Given the description of an element on the screen output the (x, y) to click on. 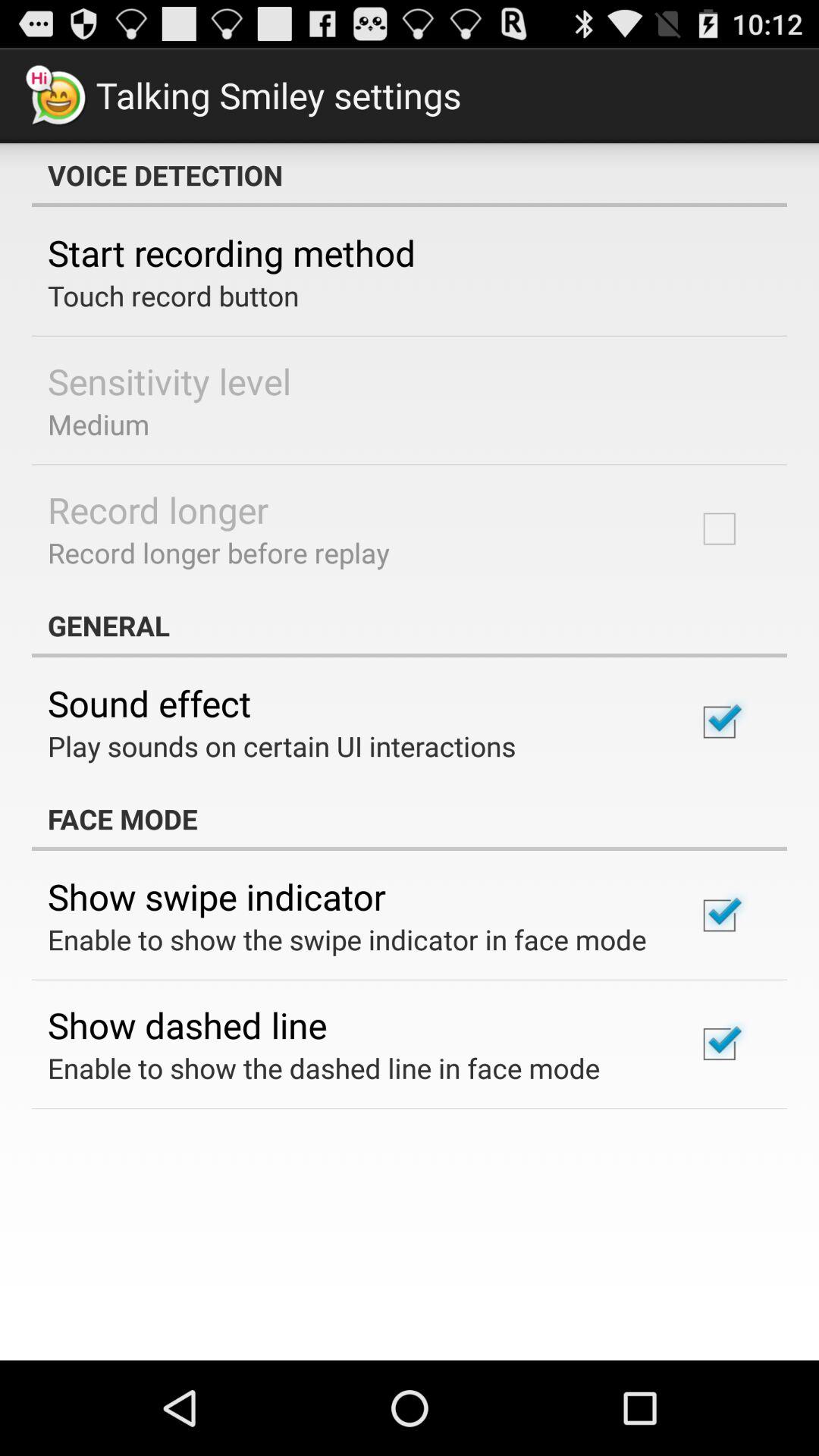
select the logo on the top left corner of the web page (55, 95)
